Given the description of an element on the screen output the (x, y) to click on. 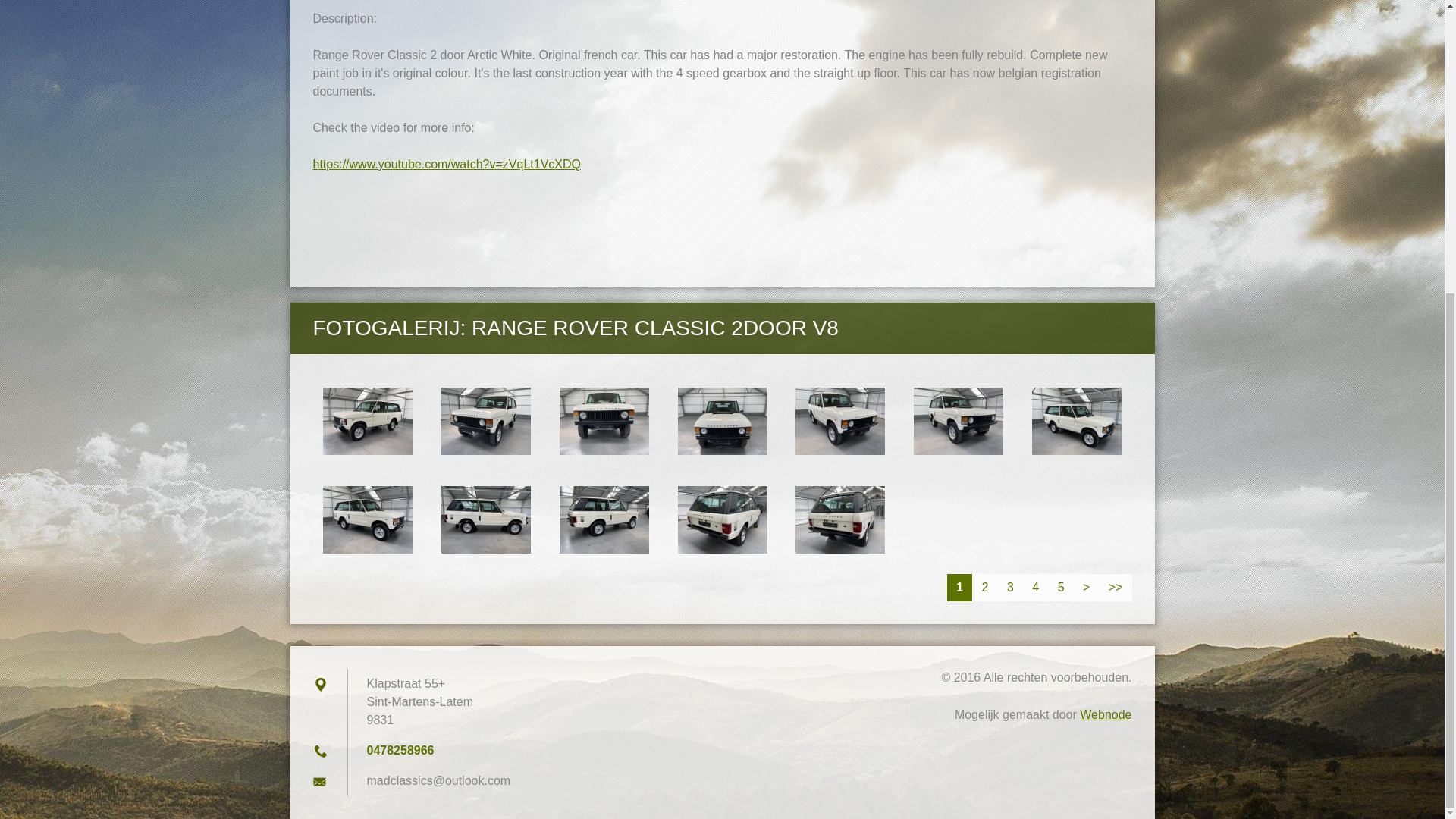
Ga naar de laatste pagina. (1115, 587)
Toon volledige afbeelding (367, 421)
Toon volledige afbeelding (604, 421)
Toon volledige afbeelding (1076, 421)
Toon volledige afbeelding (722, 421)
Ga naar de volgende pagina. (1086, 587)
Toon volledige afbeelding (367, 520)
Toon volledige afbeelding (839, 520)
Toon volledige afbeelding (604, 520)
Toon volledige afbeelding (486, 520)
